Given the description of an element on the screen output the (x, y) to click on. 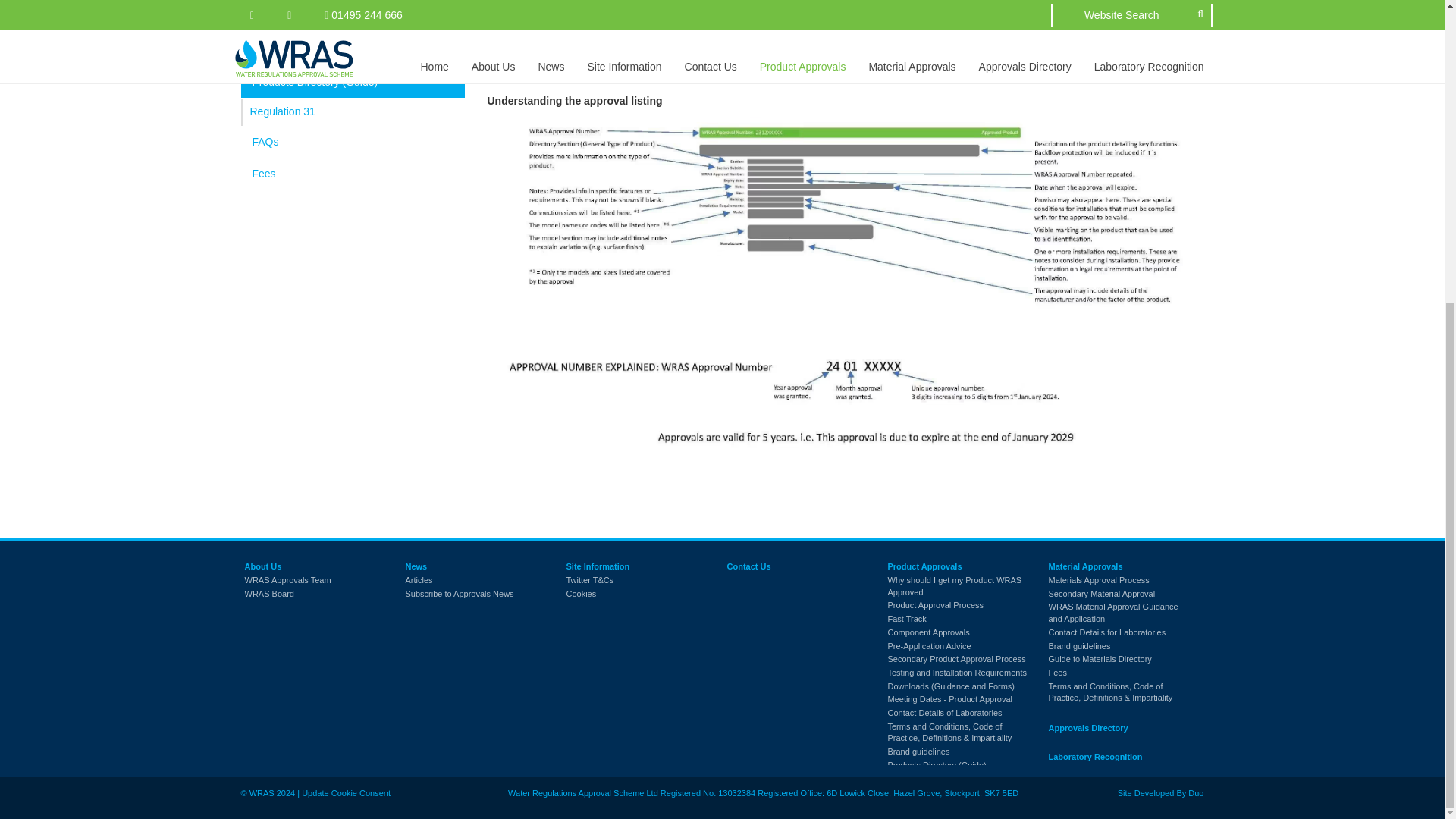
Brand guidelines (352, 51)
FAQs (352, 142)
Regulation 31 (353, 112)
click here (889, 55)
About Us (262, 565)
Fees (352, 173)
